Given the description of an element on the screen output the (x, y) to click on. 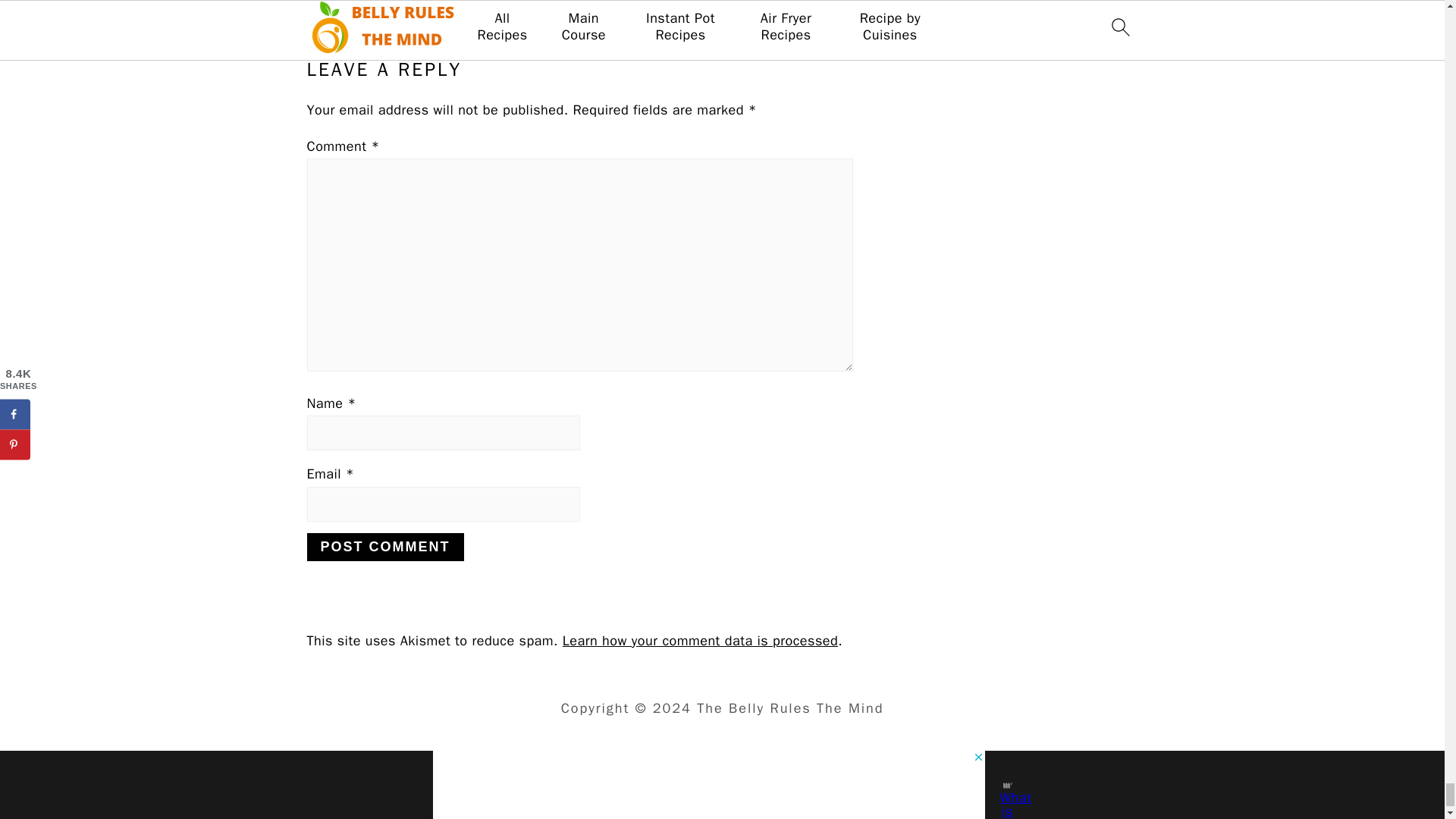
Post Comment (384, 547)
